Given the description of an element on the screen output the (x, y) to click on. 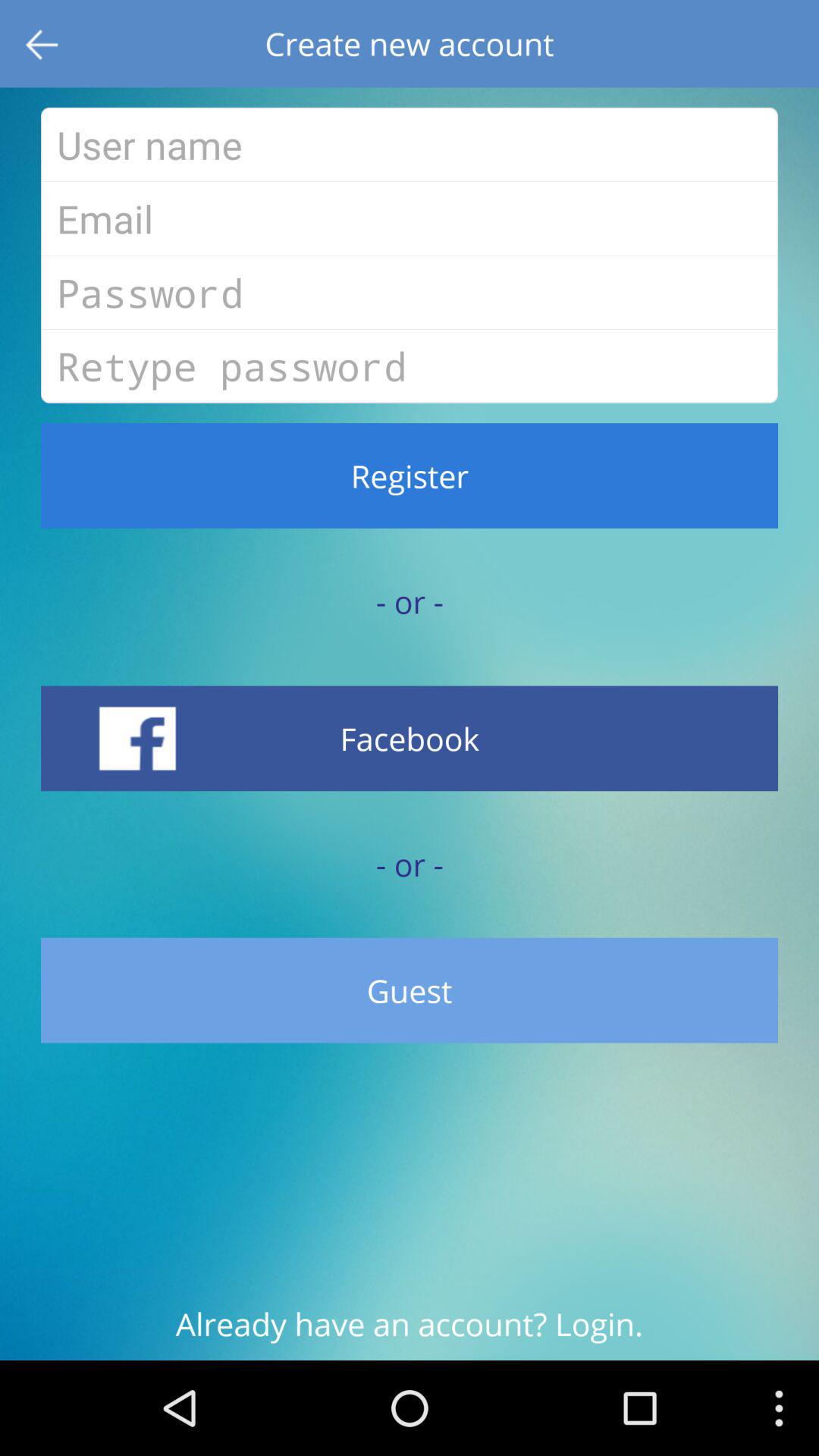
type username to register (409, 144)
